Given the description of an element on the screen output the (x, y) to click on. 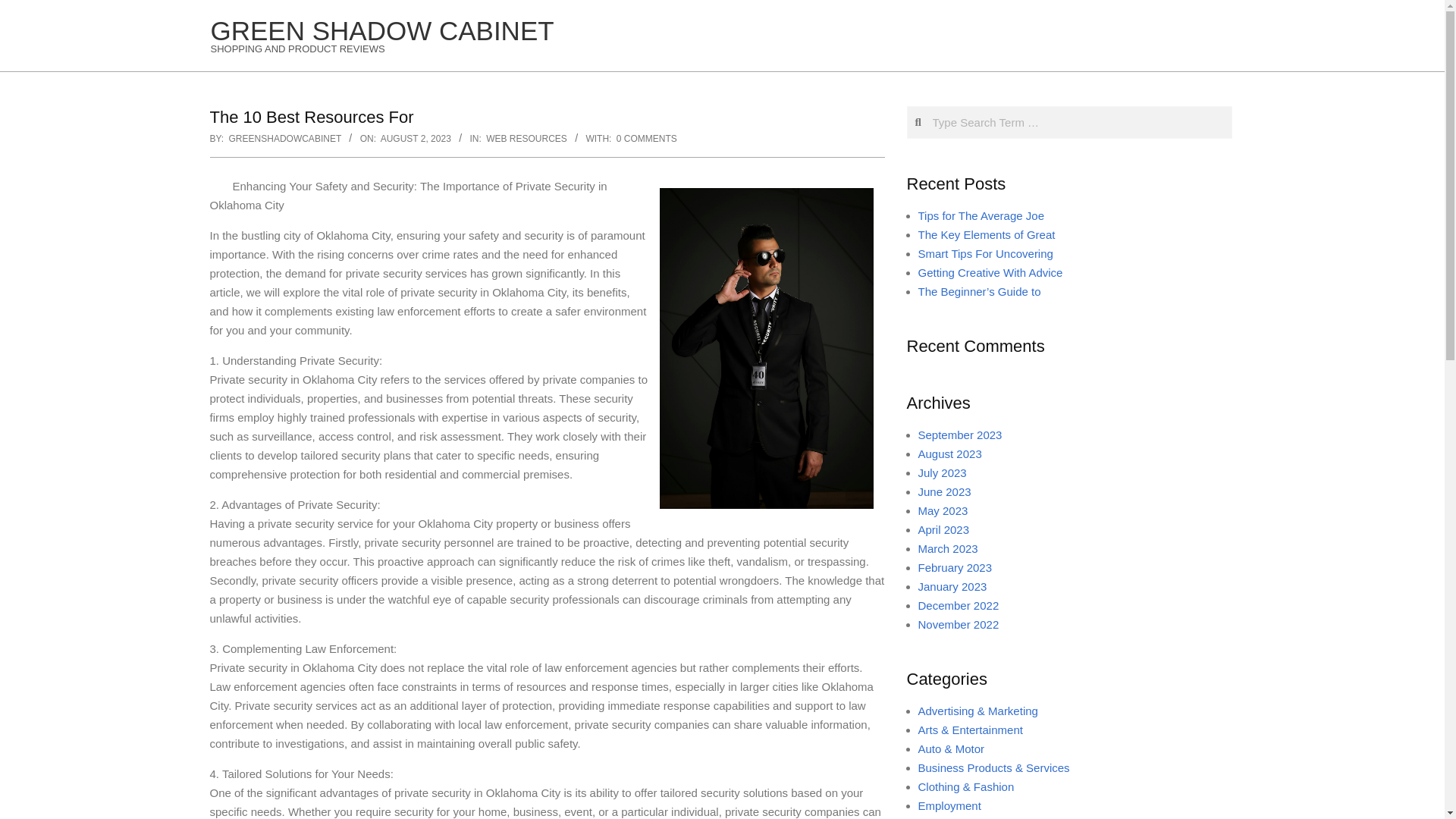
July 2023 (941, 472)
June 2023 (944, 491)
Smart Tips For Uncovering (984, 253)
The Key Elements of Great (985, 234)
March 2023 (946, 548)
Getting Creative With Advice (989, 272)
Employment (948, 805)
GREENSHADOWCABINET (284, 138)
Posts by greenshadowcabinet (284, 138)
August 2023 (949, 453)
Tips for The Average Joe (980, 215)
WEB RESOURCES (526, 138)
Wednesday, August 2, 2023, 12:02 pm (415, 138)
November 2022 (957, 624)
May 2023 (942, 510)
